Given the description of an element on the screen output the (x, y) to click on. 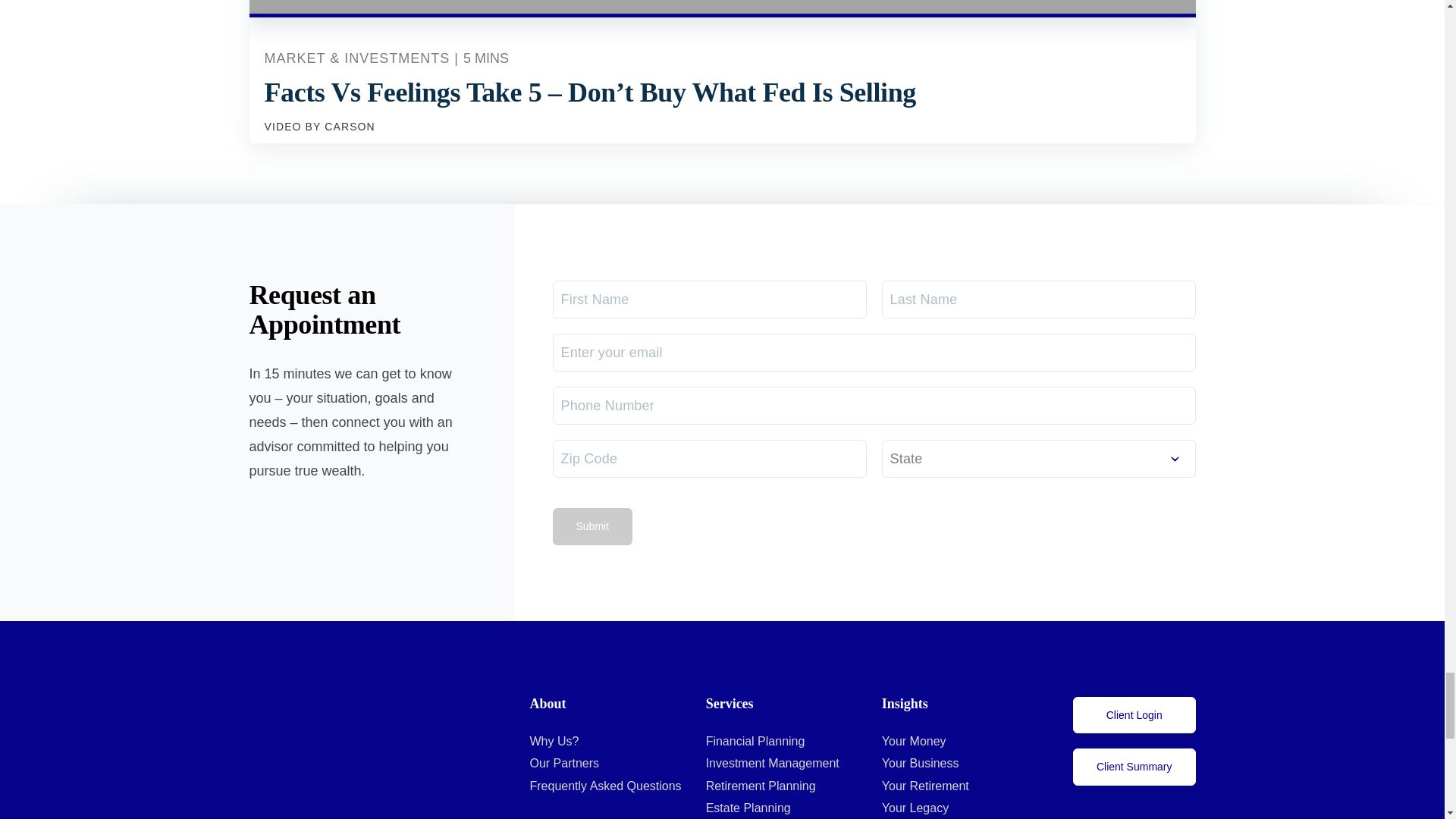
Submit (591, 525)
